Given the description of an element on the screen output the (x, y) to click on. 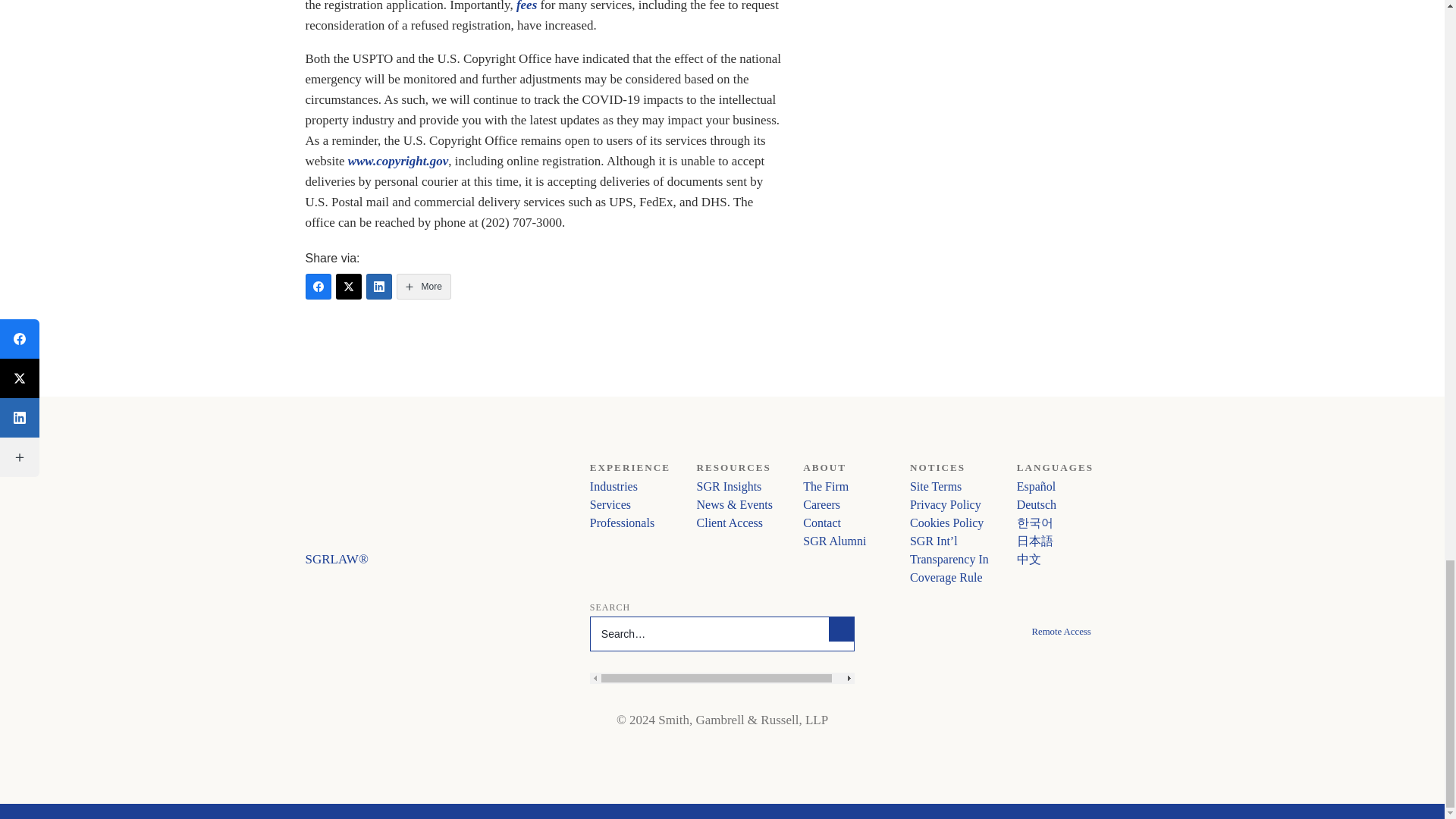
www.copyright.gov (397, 160)
fees (526, 6)
More (422, 286)
